Given the description of an element on the screen output the (x, y) to click on. 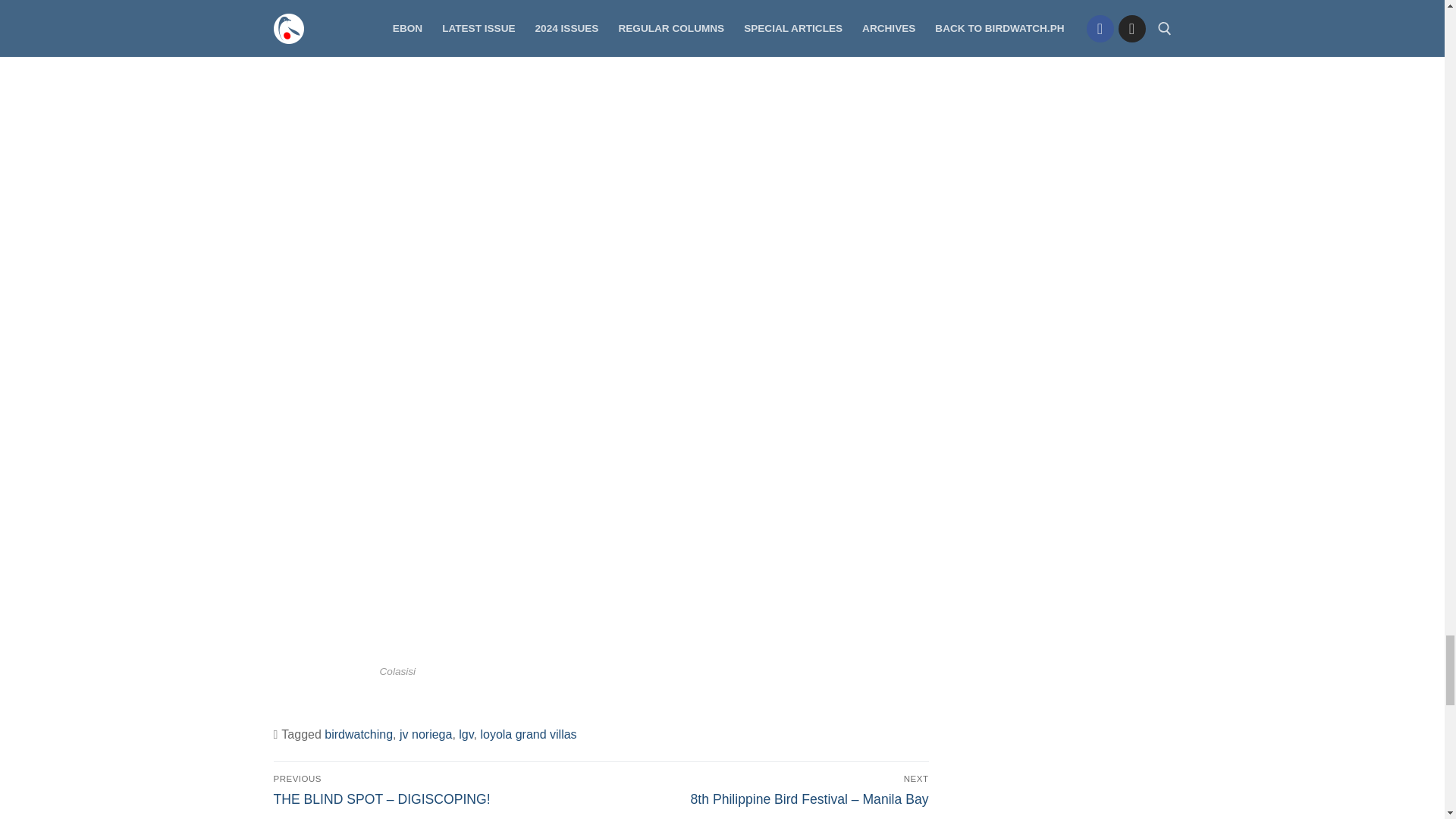
lgv (465, 734)
jv noriega (424, 734)
birdwatching (358, 734)
